Given the description of an element on the screen output the (x, y) to click on. 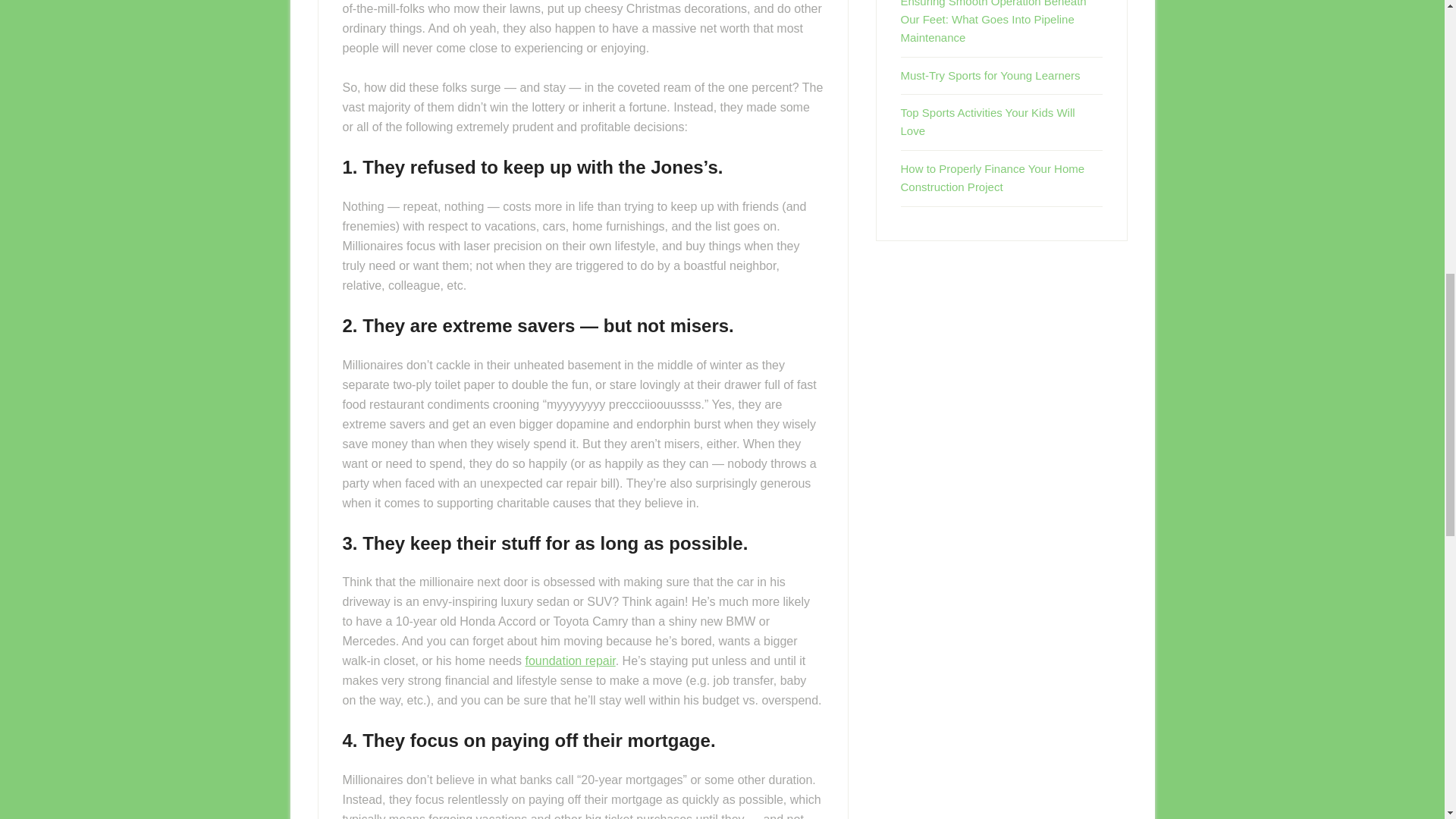
Must-Try Sports for Young Learners (990, 74)
foundation repair (569, 660)
How to Properly Finance Your Home Construction Project (992, 177)
Top Sports Activities Your Kids Will Love (988, 121)
